Given the description of an element on the screen output the (x, y) to click on. 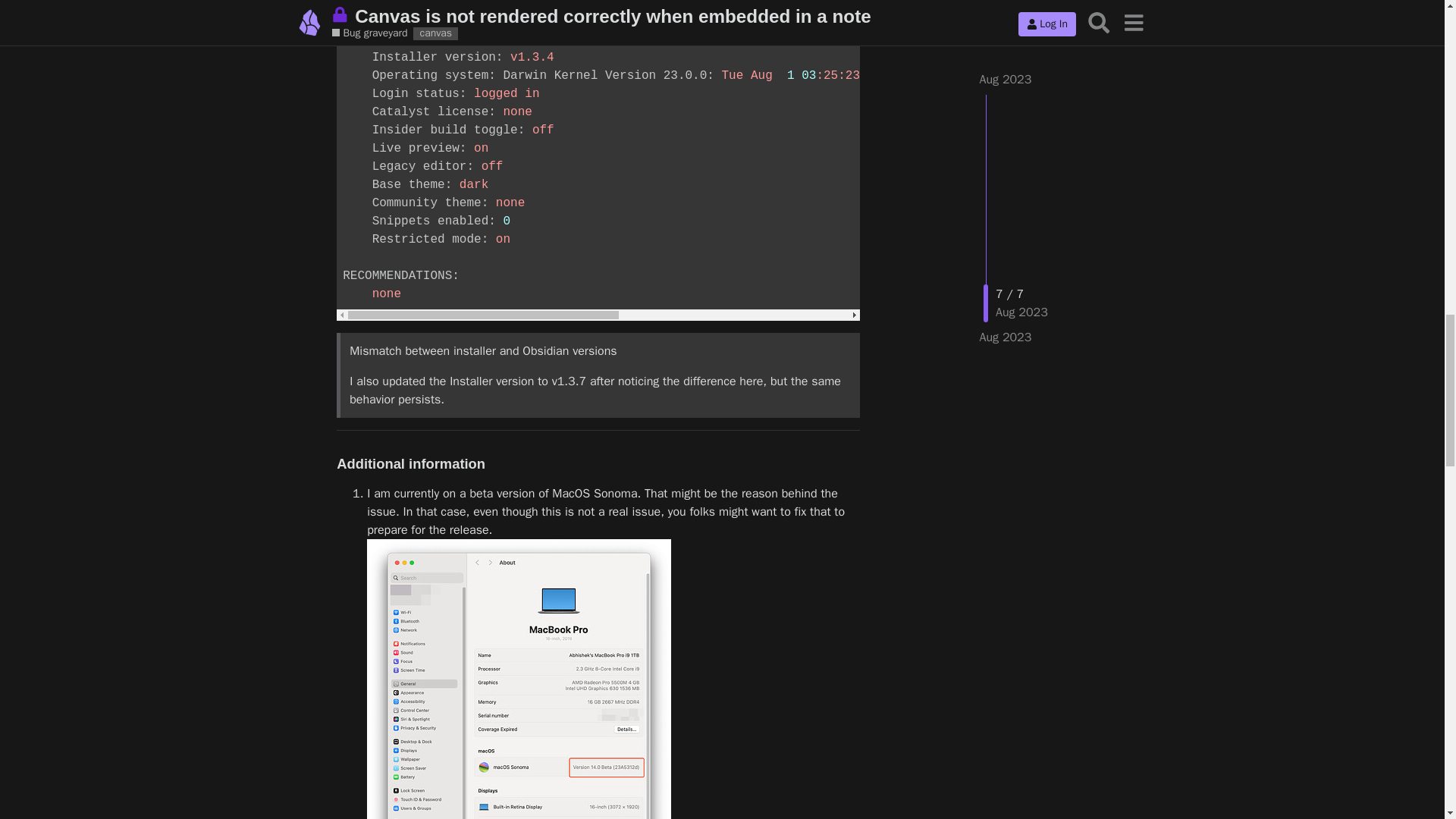
image (518, 678)
